Given the description of an element on the screen output the (x, y) to click on. 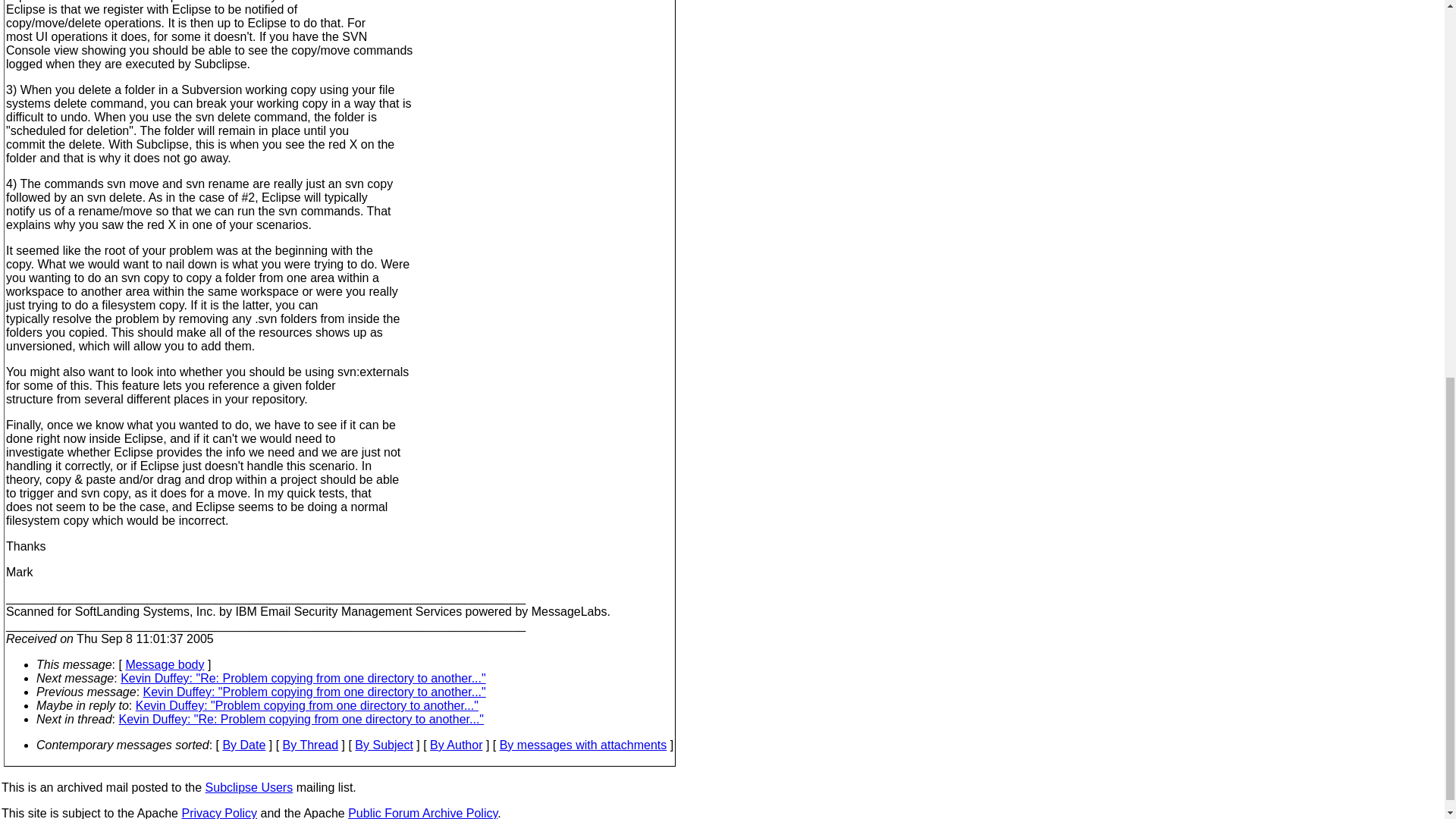
Next message in the list (303, 677)
Contemporary messages by attachment (582, 744)
Contemporary messages by date (243, 744)
Contemporary messages by author (455, 744)
By messages with attachments (582, 744)
By Subject (383, 744)
Message to which this message replies (307, 705)
By Thread (310, 744)
By Author (455, 744)
Next message in this discussion thread (300, 718)
By Date (243, 744)
Subclipse Users (249, 787)
